Given the description of an element on the screen output the (x, y) to click on. 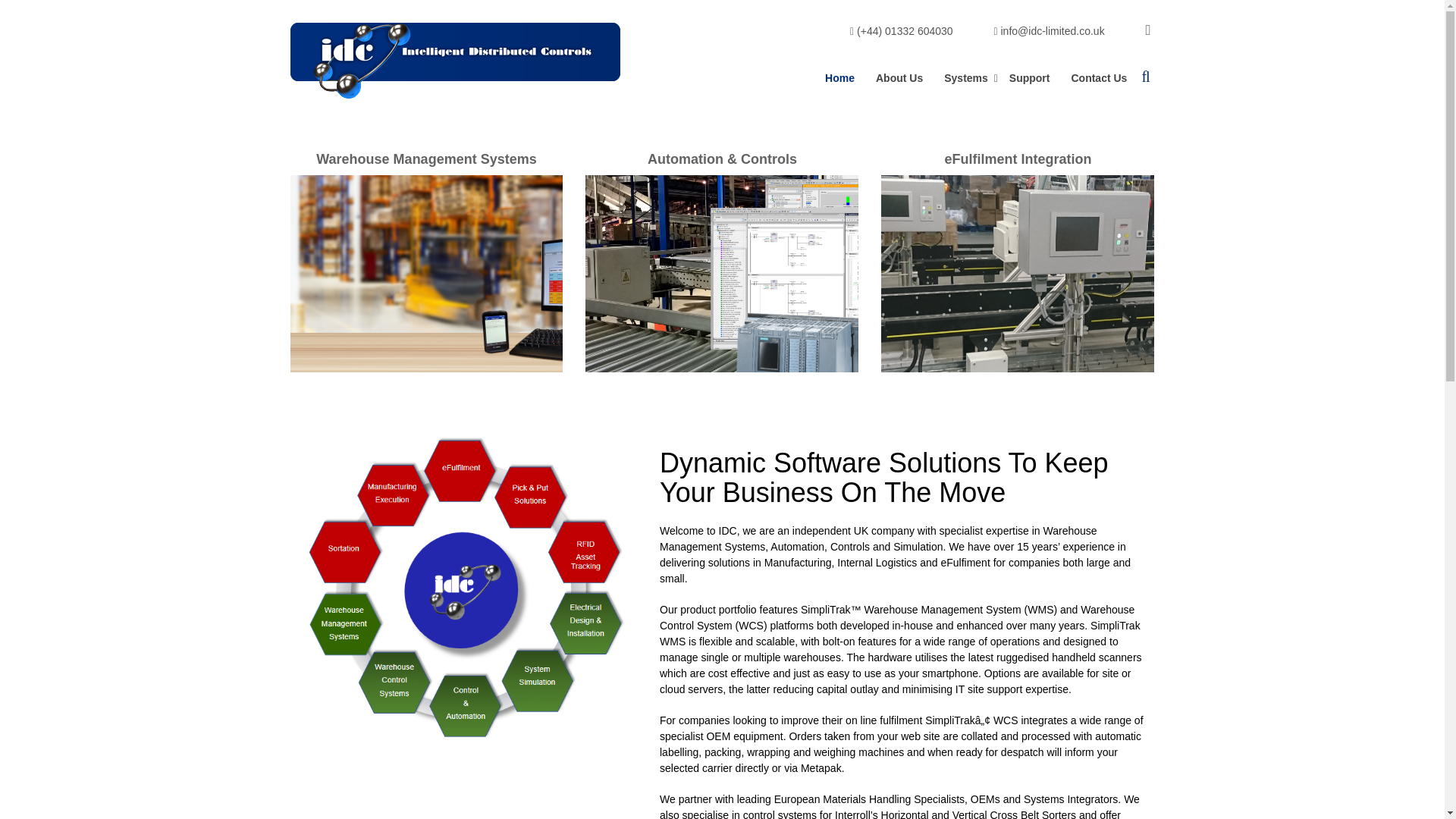
About Us (898, 77)
Home (838, 77)
Contact Us (1098, 77)
Systems (965, 77)
Support (1029, 77)
